Given the description of an element on the screen output the (x, y) to click on. 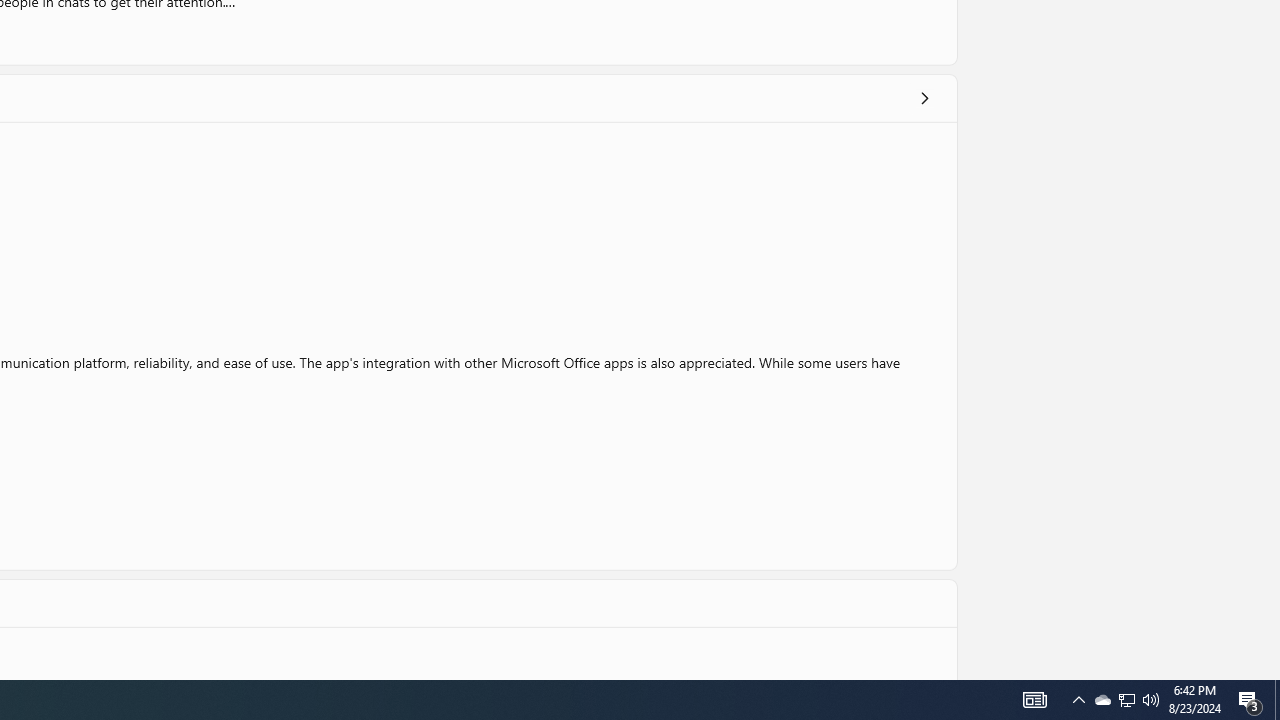
Show all ratings and reviews (924, 97)
